Given the description of an element on the screen output the (x, y) to click on. 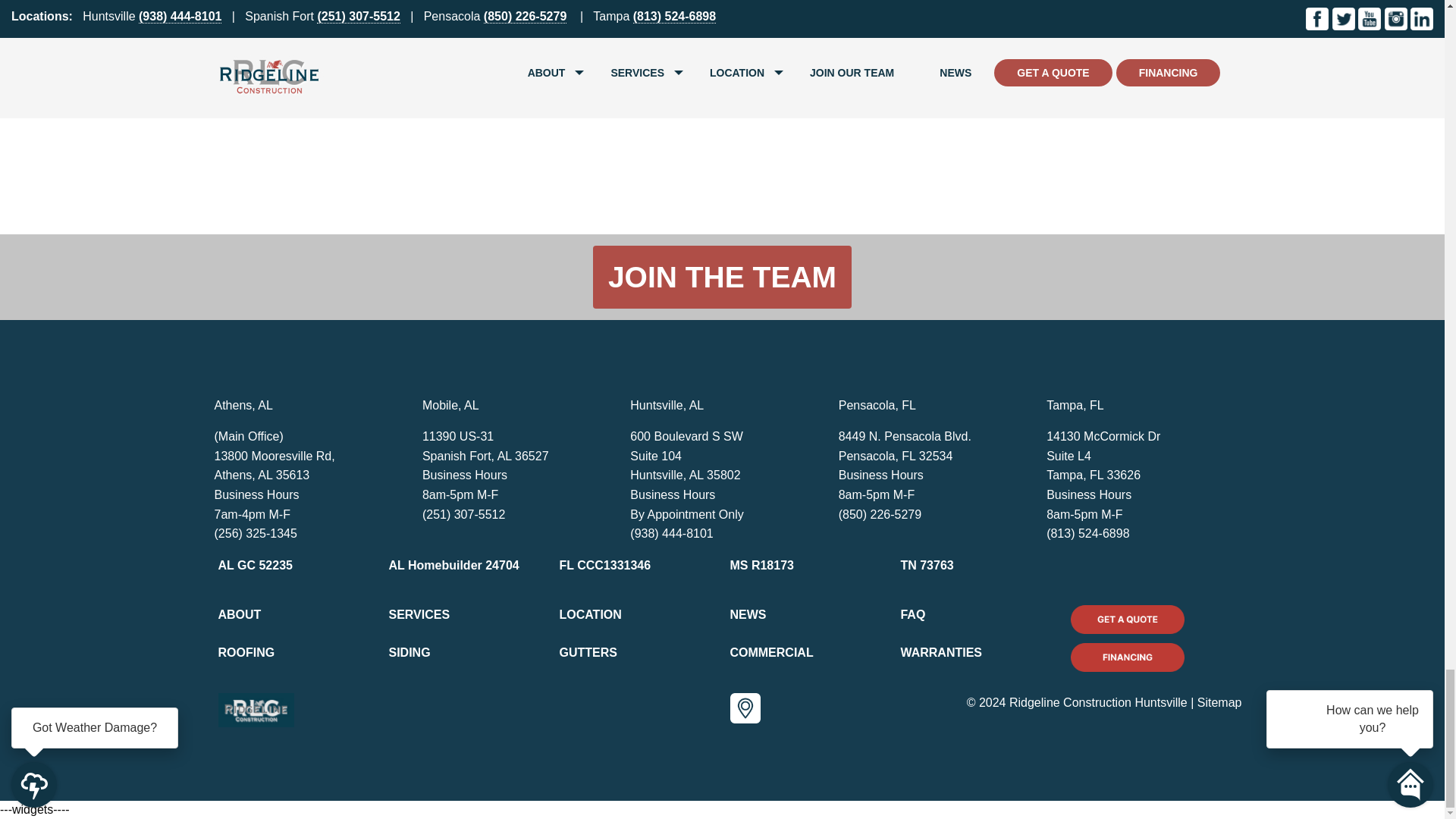
Submit (257, 84)
